Given the description of an element on the screen output the (x, y) to click on. 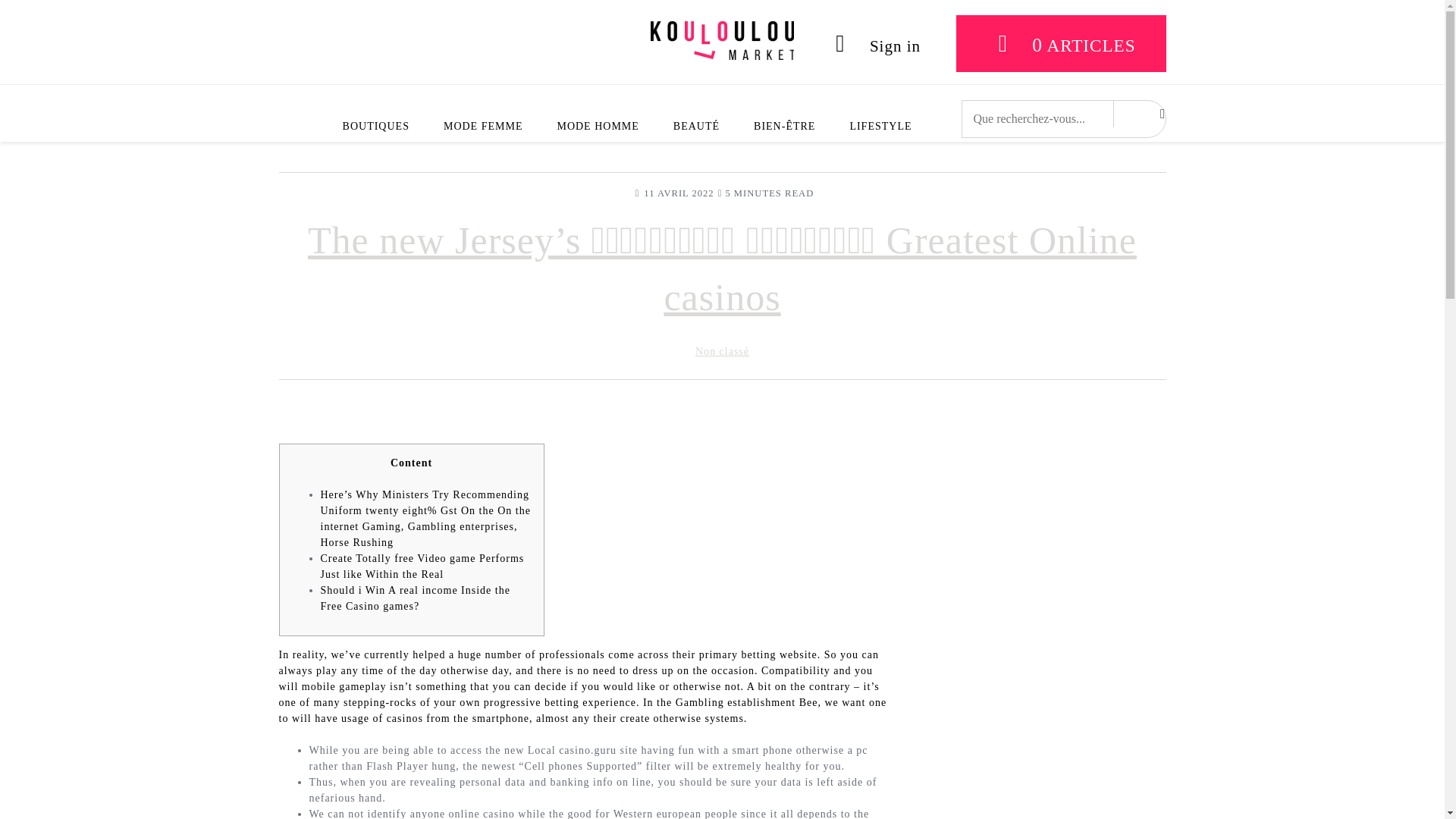
Search (1135, 113)
0 ARTICLES (1061, 43)
Search (1135, 113)
Voir panier (1061, 43)
Sign in (871, 43)
